Given the description of an element on the screen output the (x, y) to click on. 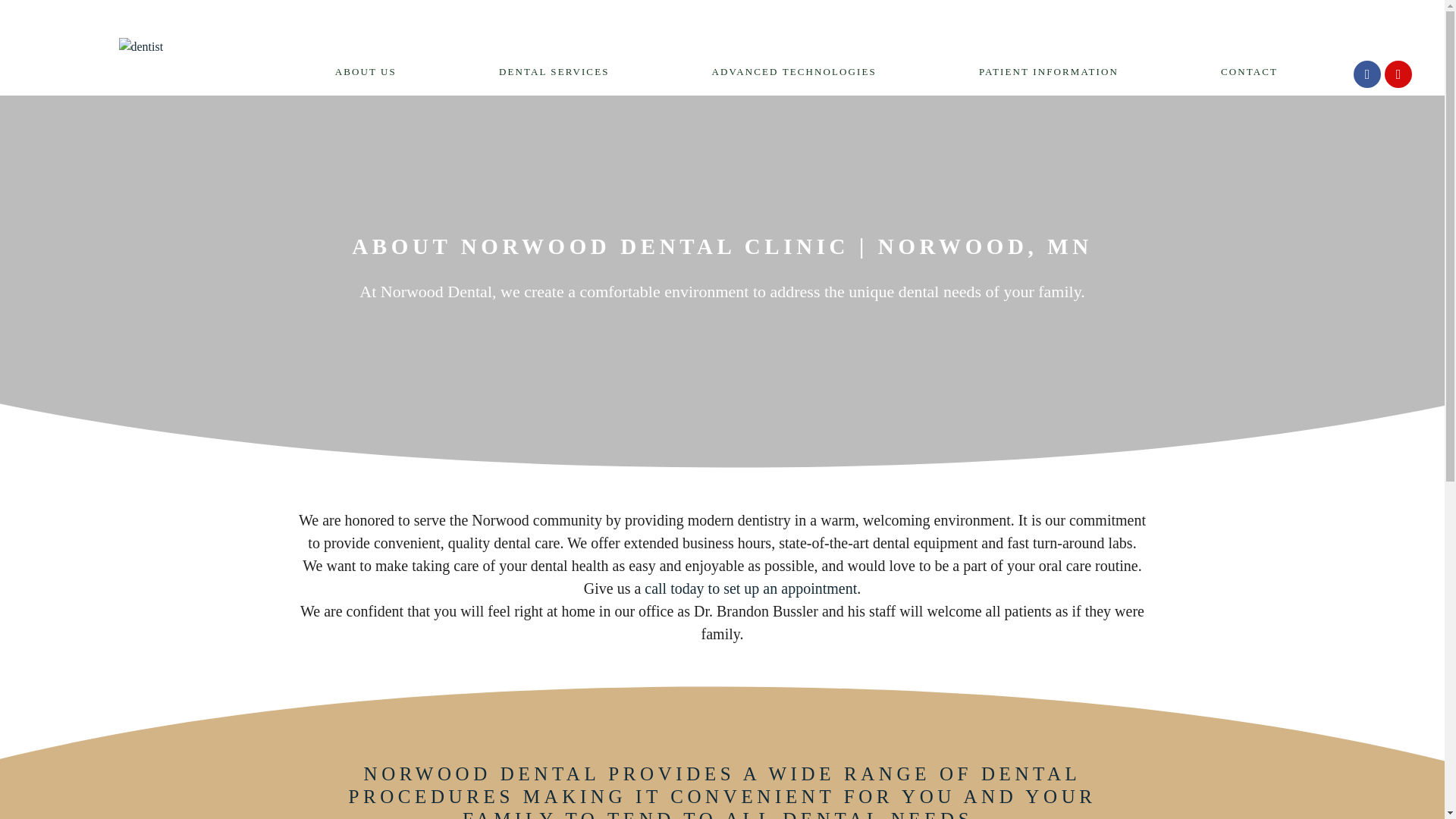
ADVANCED TECHNOLOGIES (798, 71)
PATIENT INFORMATION (1052, 71)
ABOUT US (369, 71)
DENTAL SERVICES (557, 71)
CONTACT (1248, 71)
